Given the description of an element on the screen output the (x, y) to click on. 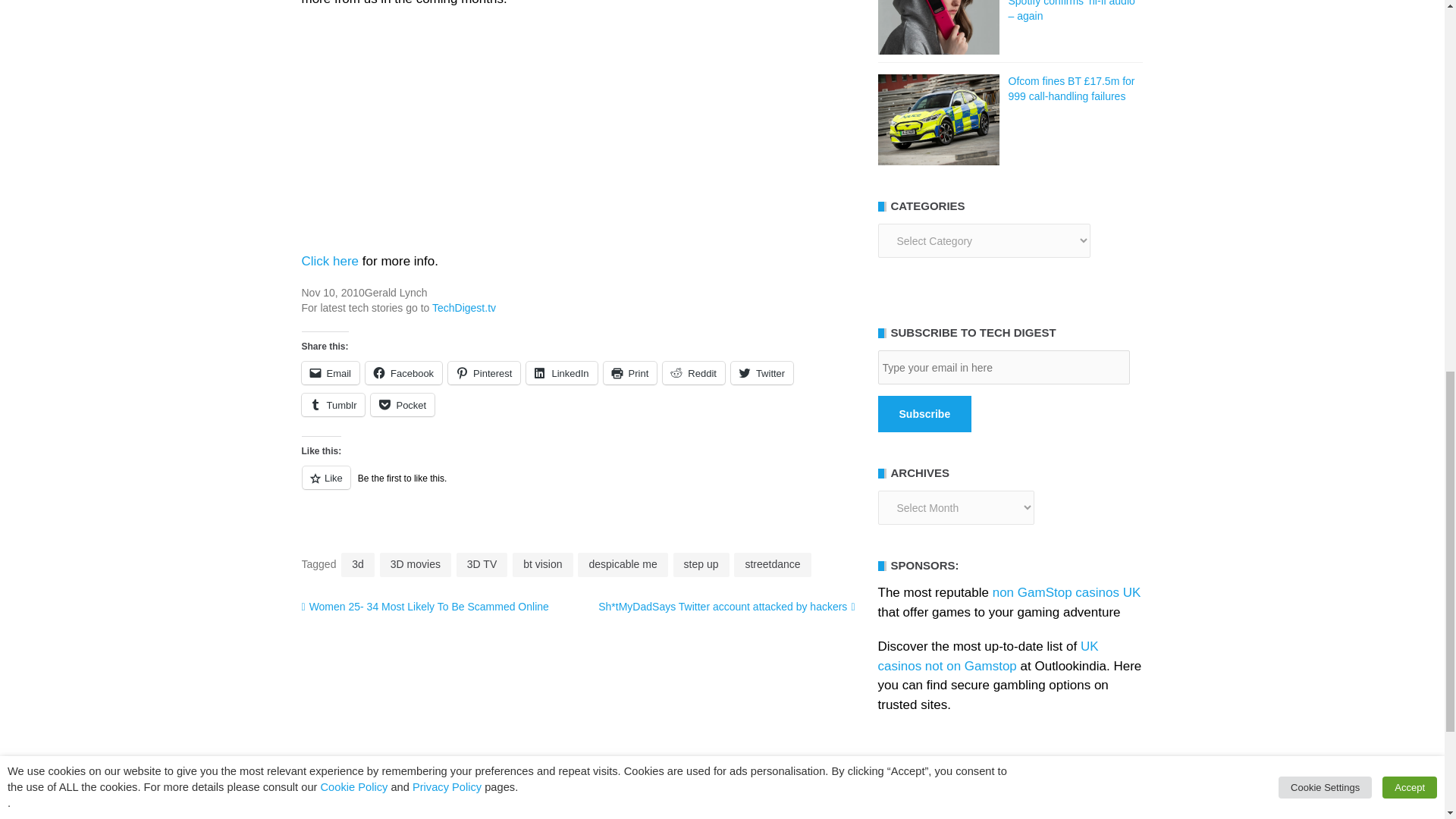
Click to share on Pocket (402, 404)
Type your email in here (1003, 367)
Click to print (631, 372)
Click to share on Twitter (761, 372)
Click to share on Tumblr (333, 404)
Click to share on Pinterest (483, 372)
Type your email in here (1003, 367)
Click to email a link to a friend (330, 372)
Click to share on Reddit (693, 372)
Advertisement (578, 130)
Click to share on Facebook (403, 372)
Like or Reblog (578, 486)
Click to share on LinkedIn (560, 372)
